Given the description of an element on the screen output the (x, y) to click on. 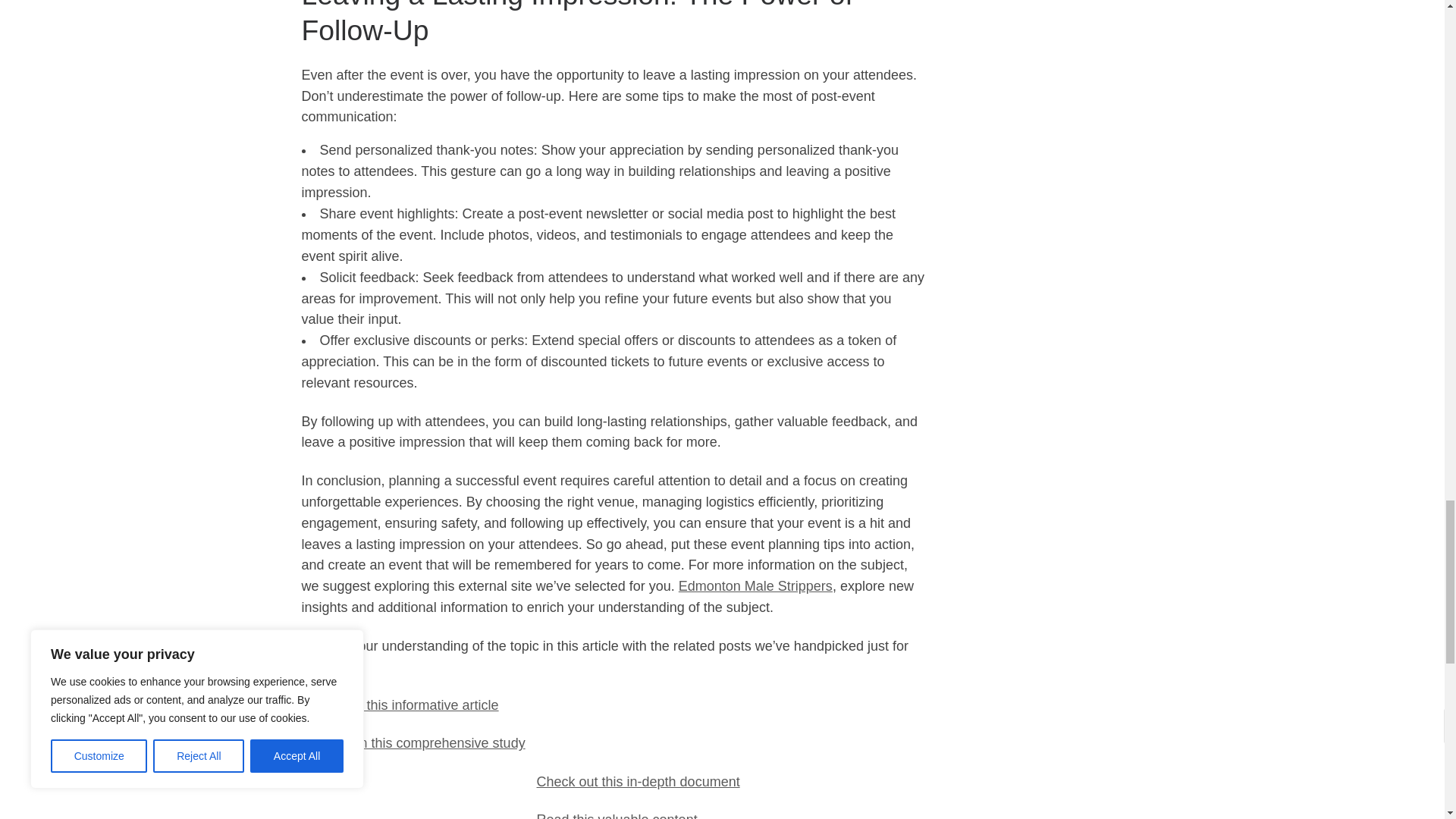
Check out this informative article (400, 704)
Read this valuable content (617, 815)
Edmonton Male Strippers (755, 585)
Check out this in-depth document (638, 781)
Learn from this comprehensive study (413, 743)
